Given the description of an element on the screen output the (x, y) to click on. 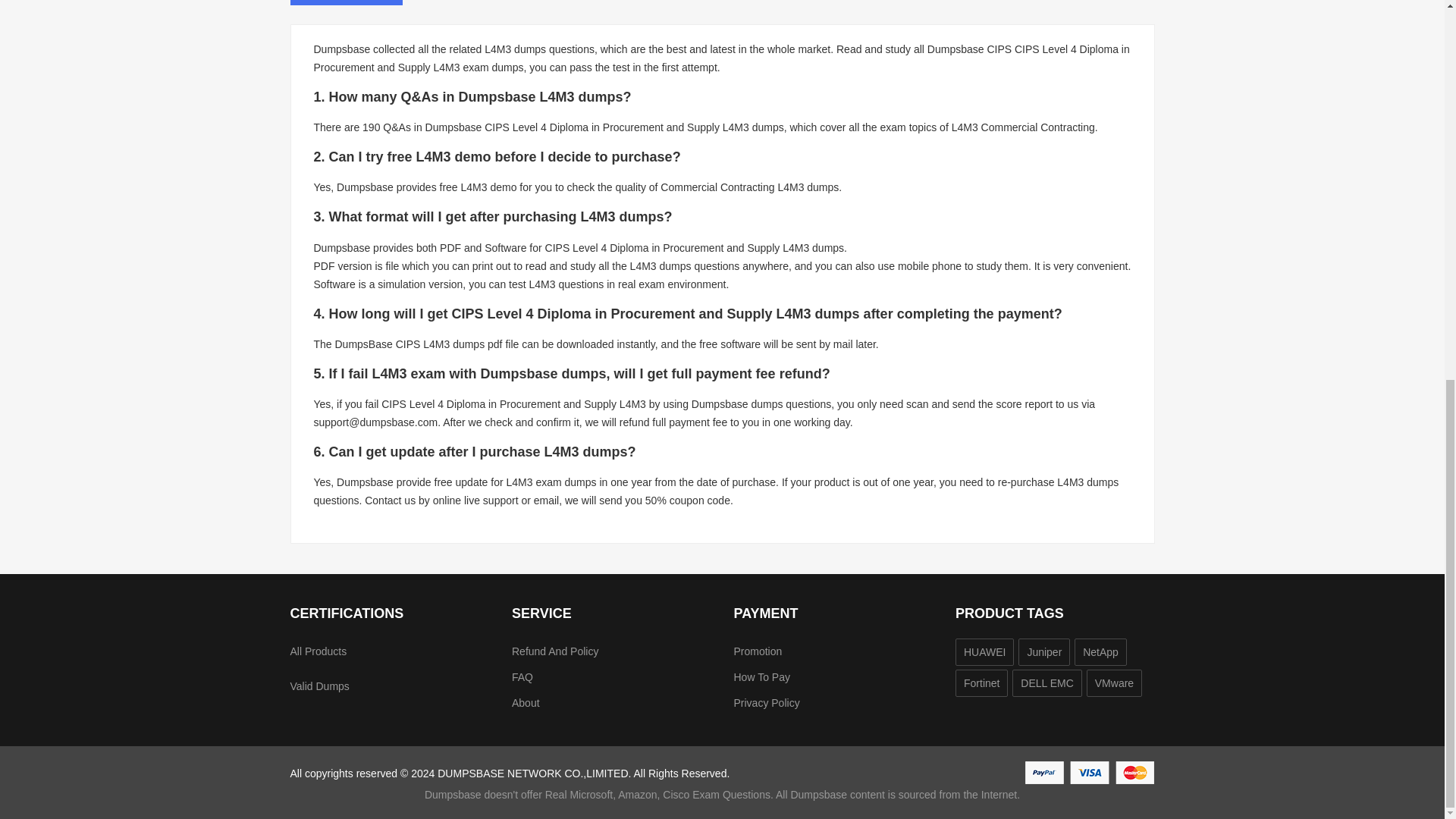
Description (345, 2)
